Given the description of an element on the screen output the (x, y) to click on. 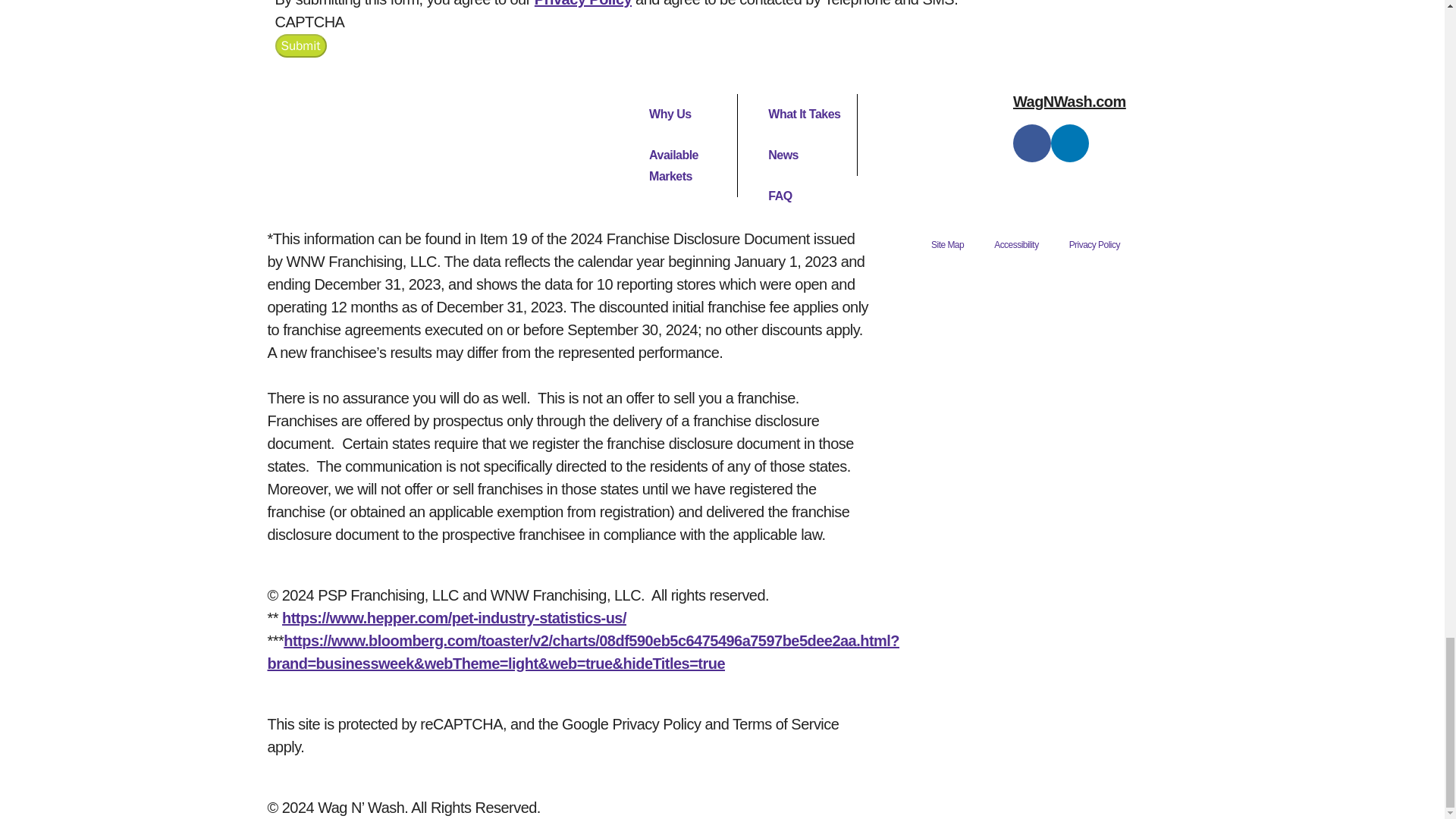
News (804, 155)
Privacy Policy (582, 3)
Available Markets (684, 166)
WagNWash.com (1069, 101)
FAQ (804, 196)
Privacy Policy (1094, 244)
What It Takes (804, 114)
Submit (300, 46)
Why Us (684, 114)
Submit (300, 46)
